Given the description of an element on the screen output the (x, y) to click on. 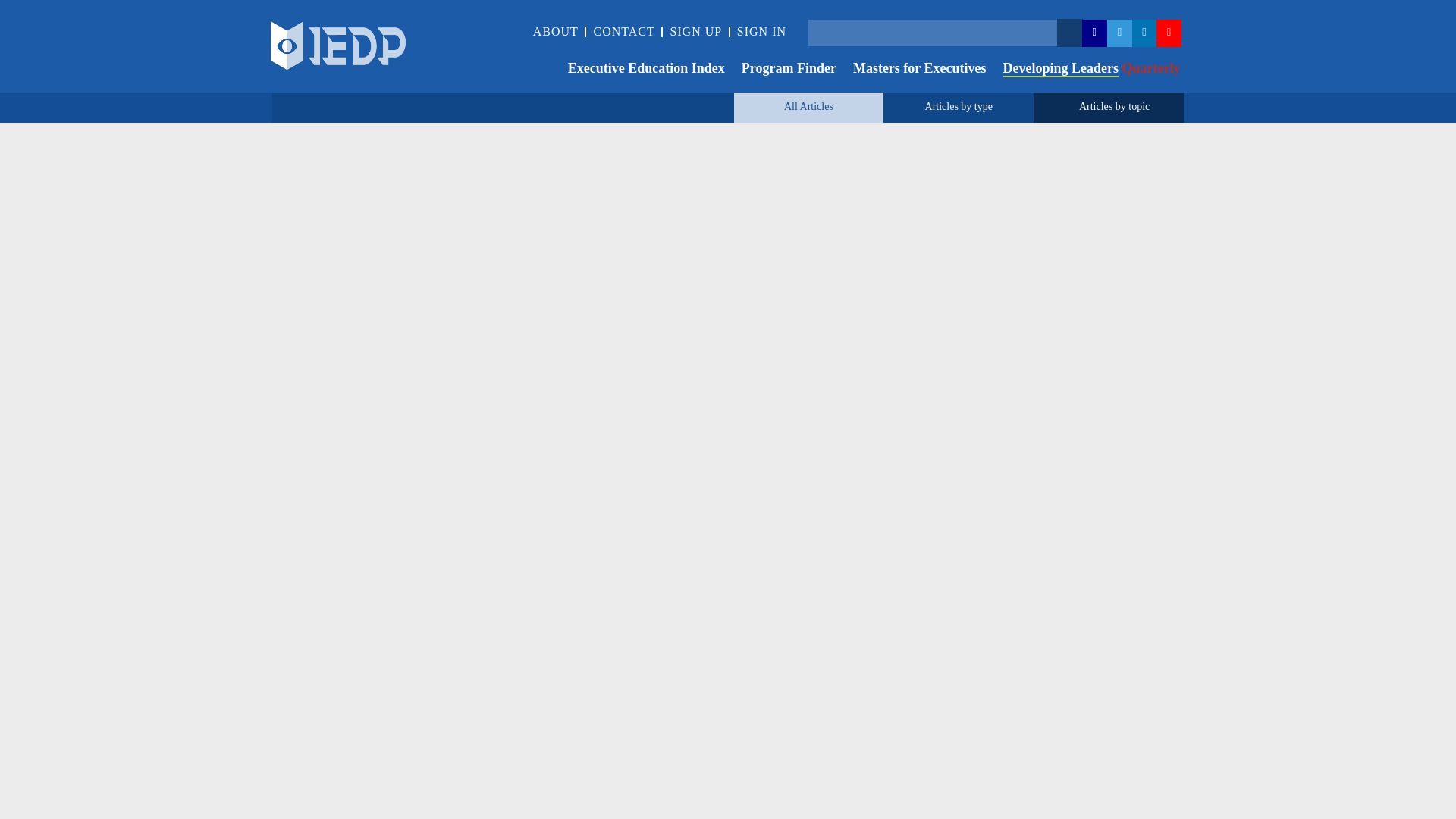
ABOUT (555, 31)
CONTACT (622, 31)
Developing Leaders Quarterly (1083, 70)
Articles by type (958, 106)
Executive Education Index (638, 70)
Articles by topic (1114, 106)
All Articles (808, 106)
SIGN UP (695, 31)
SIGN IN (761, 31)
Program Finder (780, 70)
